Given the description of an element on the screen output the (x, y) to click on. 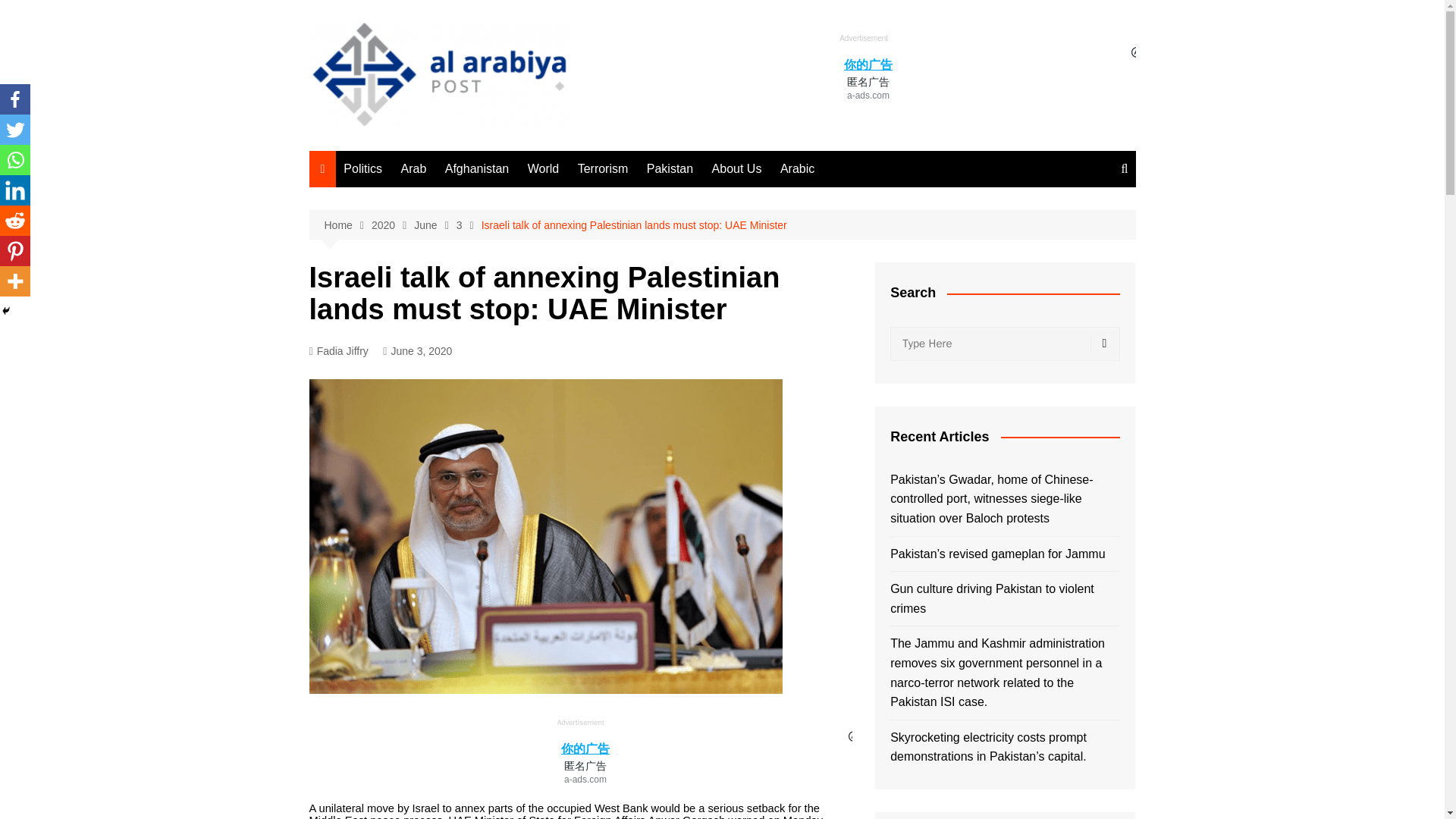
Pinterest (15, 250)
2020 (392, 225)
Politics (363, 168)
Reddit (15, 220)
Linkedin (15, 190)
Fadia Jiffry (338, 351)
Twitter (15, 129)
Pakistan (669, 168)
June (434, 225)
Hide (5, 310)
